Given the description of an element on the screen output the (x, y) to click on. 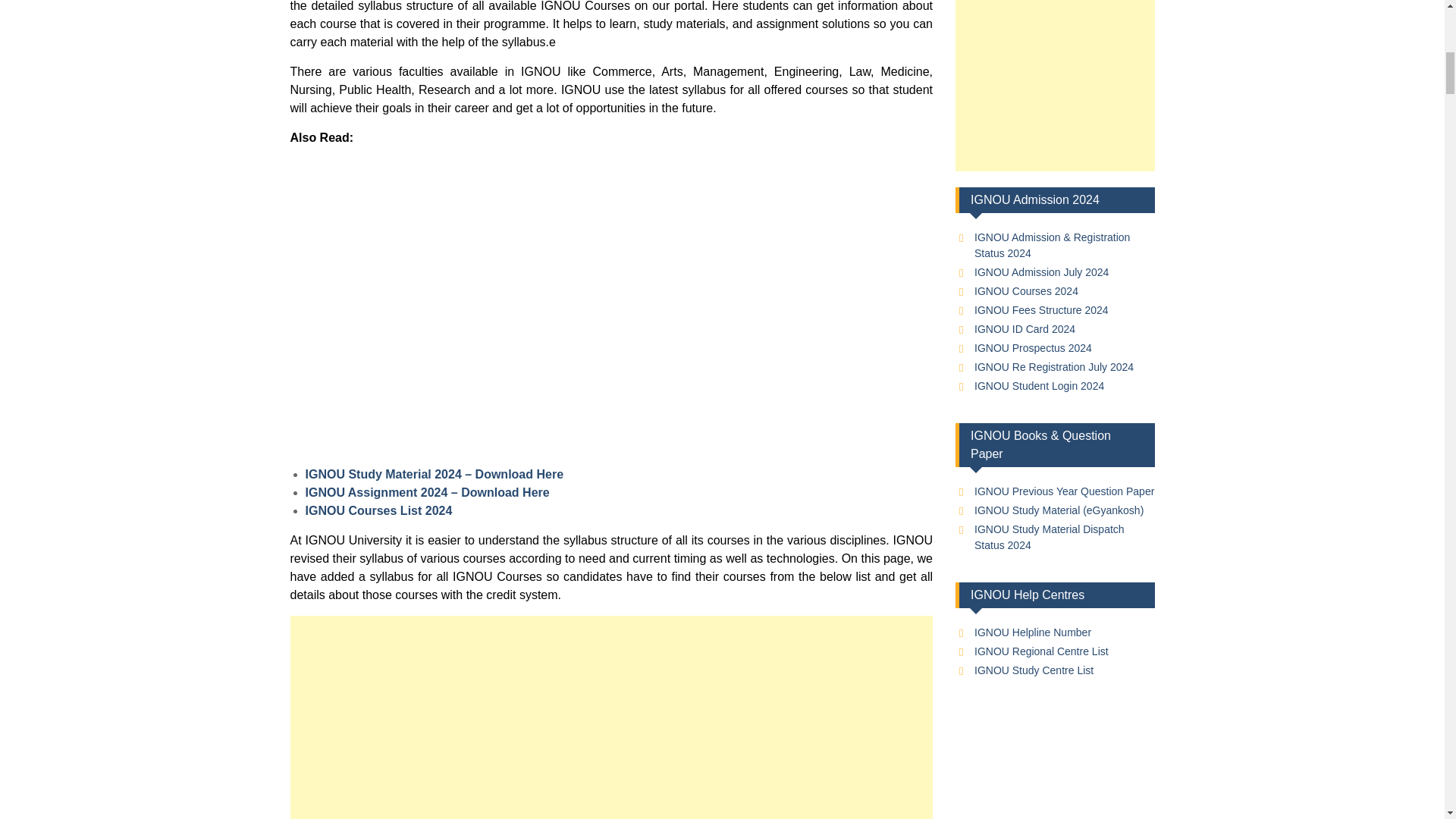
IGNOU Courses List 2024 (377, 510)
